Given the description of an element on the screen output the (x, y) to click on. 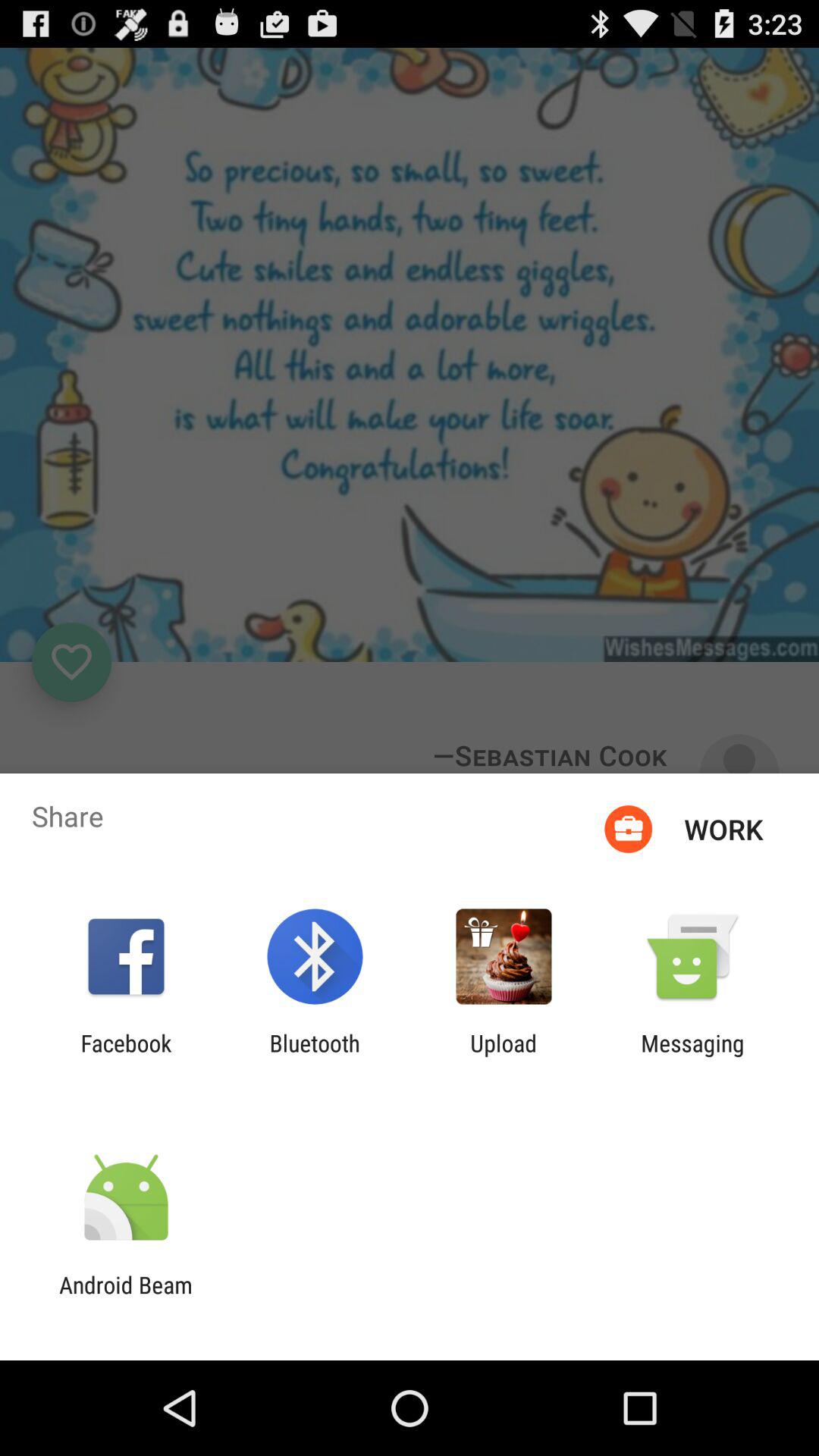
open the app next to the upload (692, 1056)
